Given the description of an element on the screen output the (x, y) to click on. 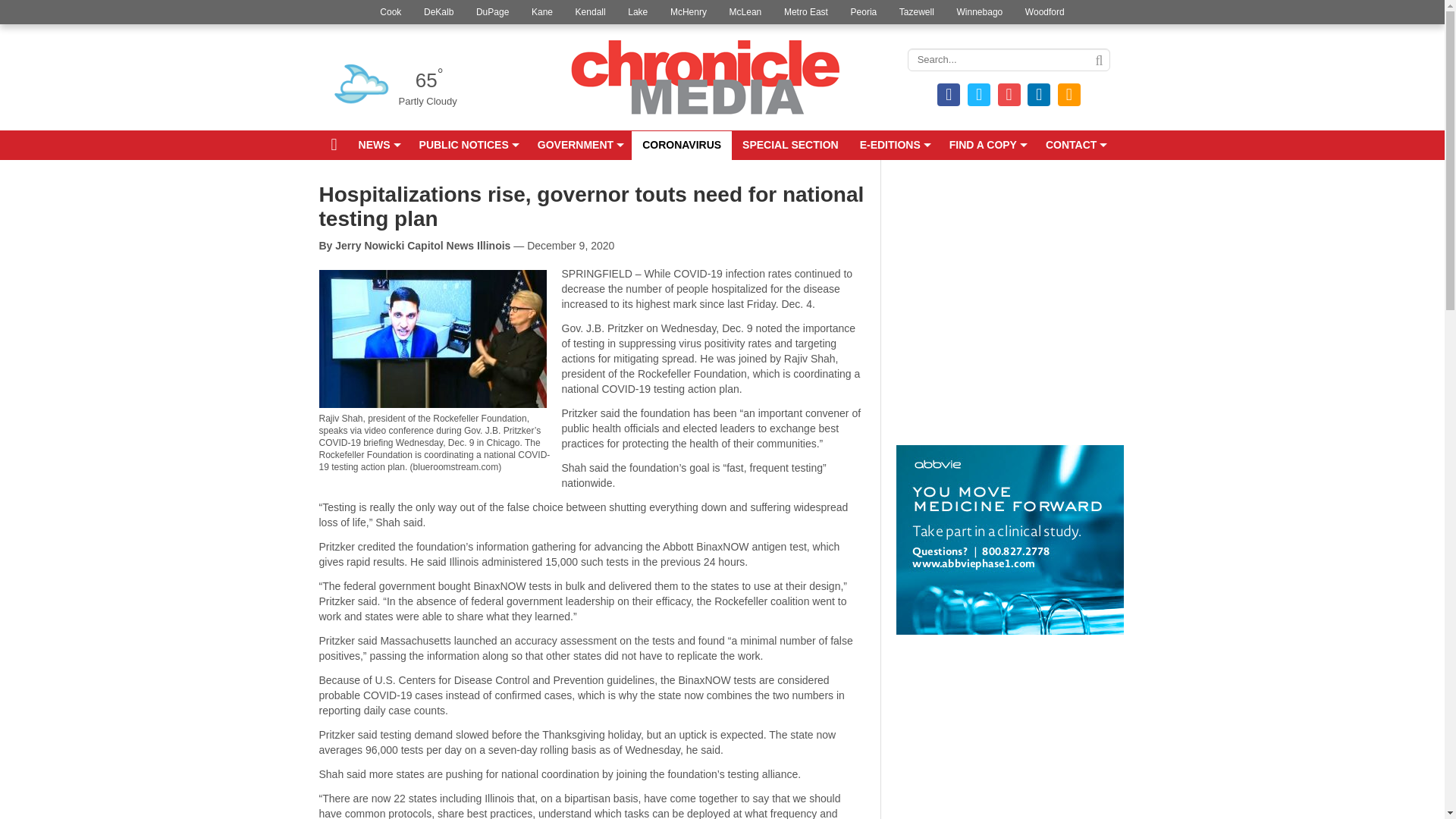
McLean (745, 11)
Cook (389, 11)
Kendall (590, 11)
Advertisement (1010, 322)
Woodford (1044, 11)
Kane (541, 11)
McHenry (688, 11)
Winnebago (980, 11)
Search (1098, 61)
Tazewell (916, 11)
Lake (637, 11)
DeKalb (438, 11)
DuPage (491, 11)
NEWS (378, 145)
Peoria (863, 11)
